Given the description of an element on the screen output the (x, y) to click on. 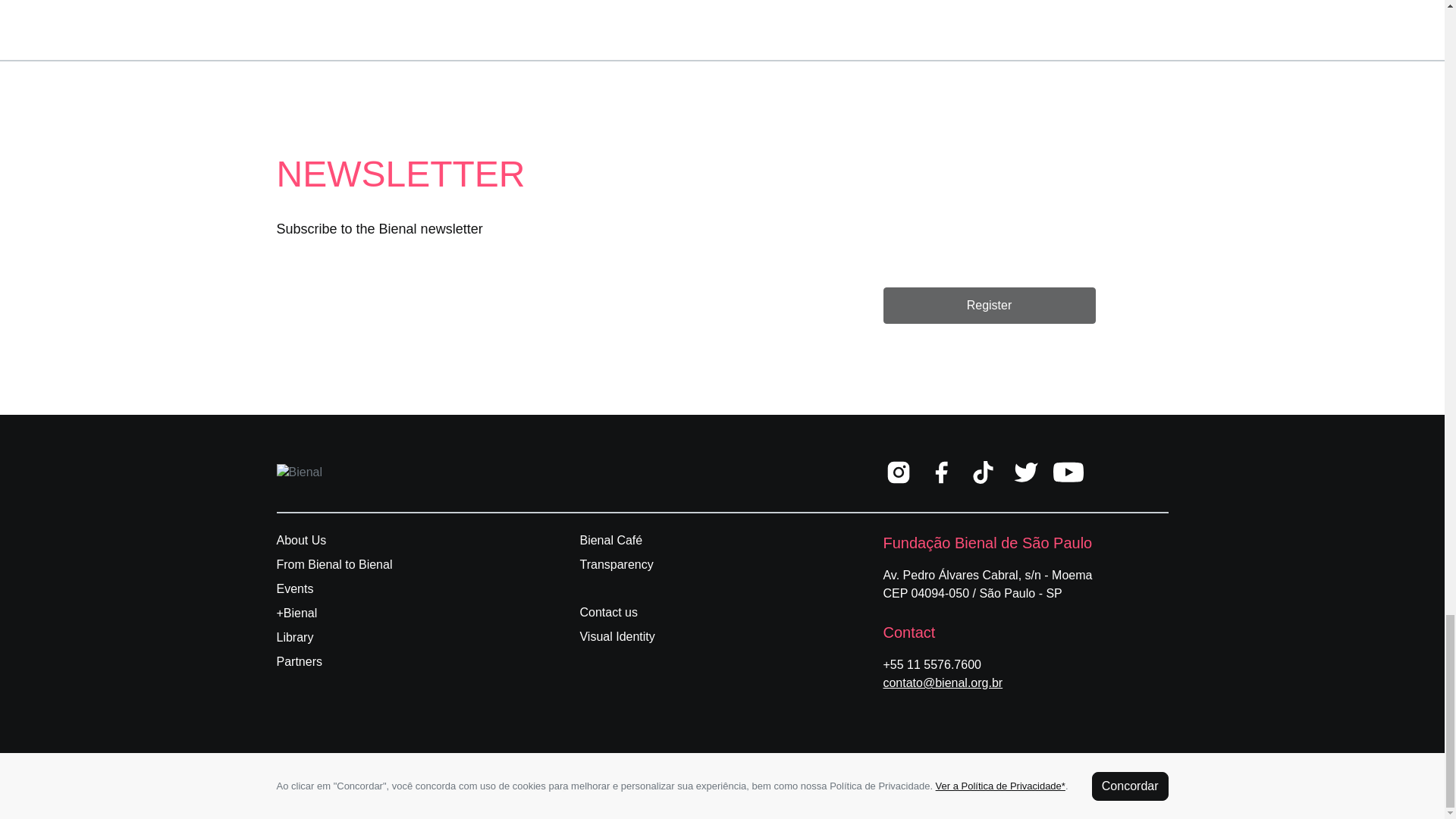
Terms of use (883, 785)
Privacy (804, 785)
